Given the description of an element on the screen output the (x, y) to click on. 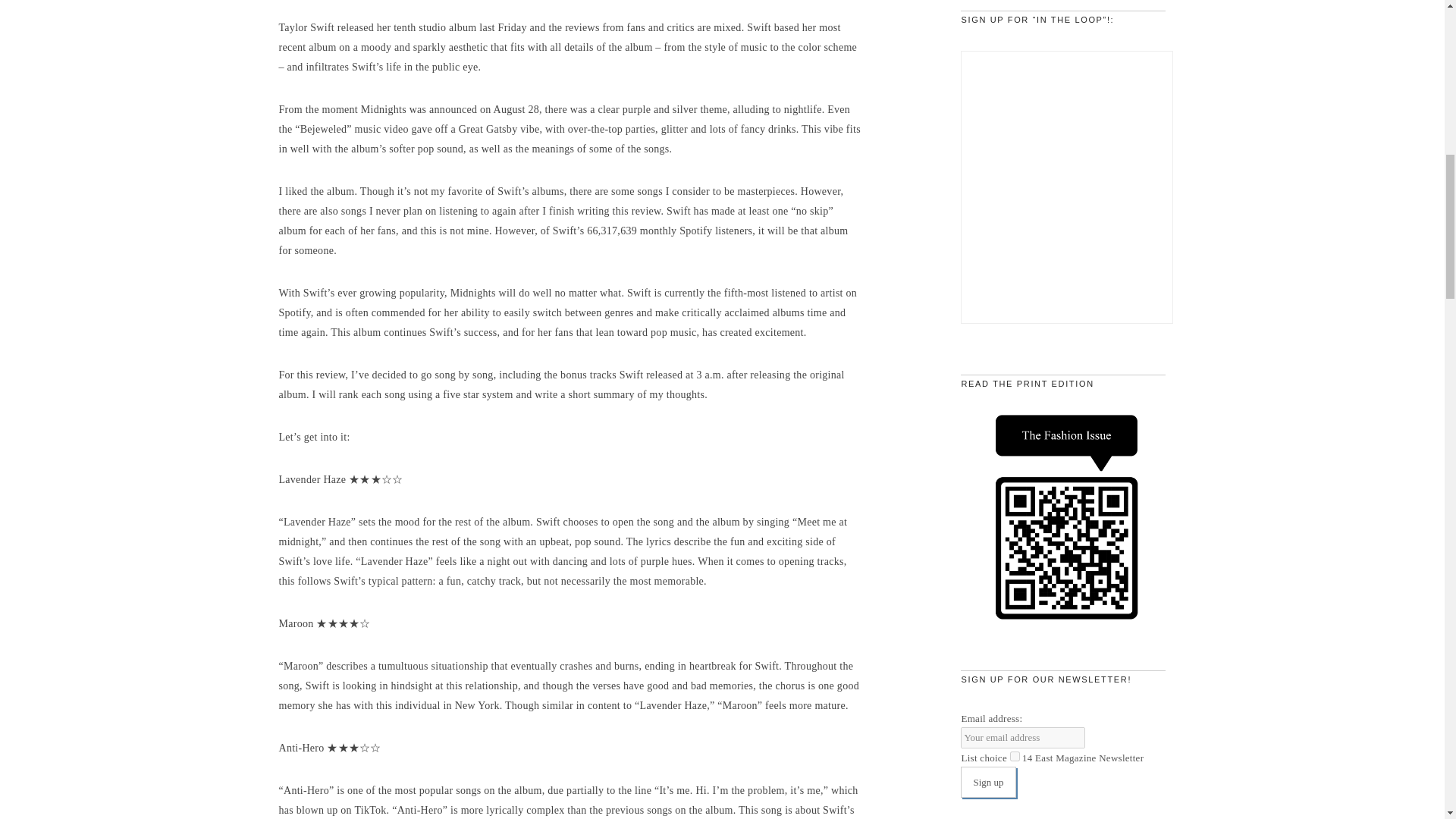
Sign up (987, 781)
70fd1dd910 (1015, 756)
